Given the description of an element on the screen output the (x, y) to click on. 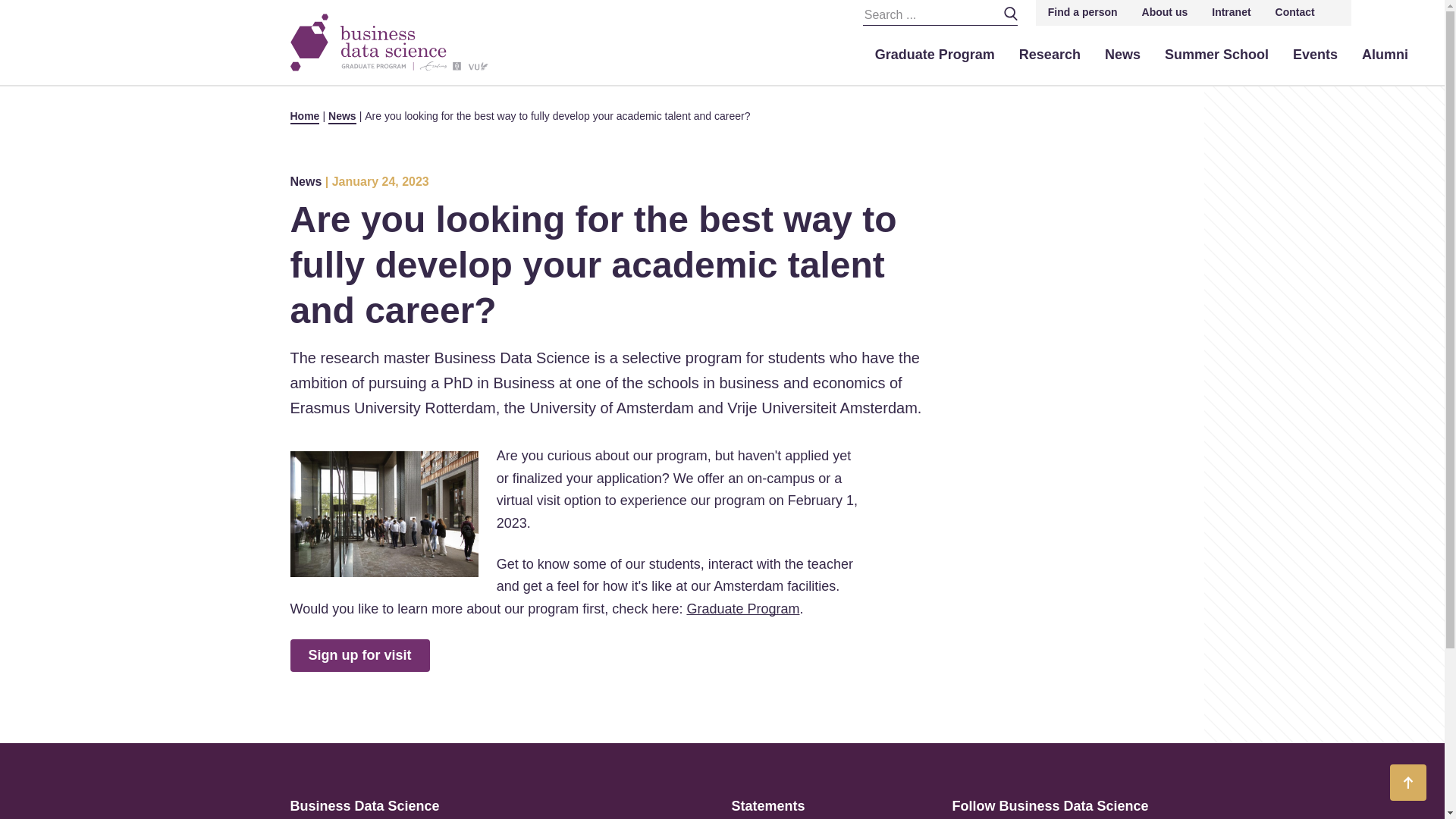
Contact (1294, 12)
About us (1164, 12)
Research (1050, 55)
Events (1315, 55)
Alumni (1385, 55)
News (1123, 55)
Summer School (1217, 55)
Graduate Program (935, 55)
Intranet (1230, 12)
Find a person (1082, 12)
